Given the description of an element on the screen output the (x, y) to click on. 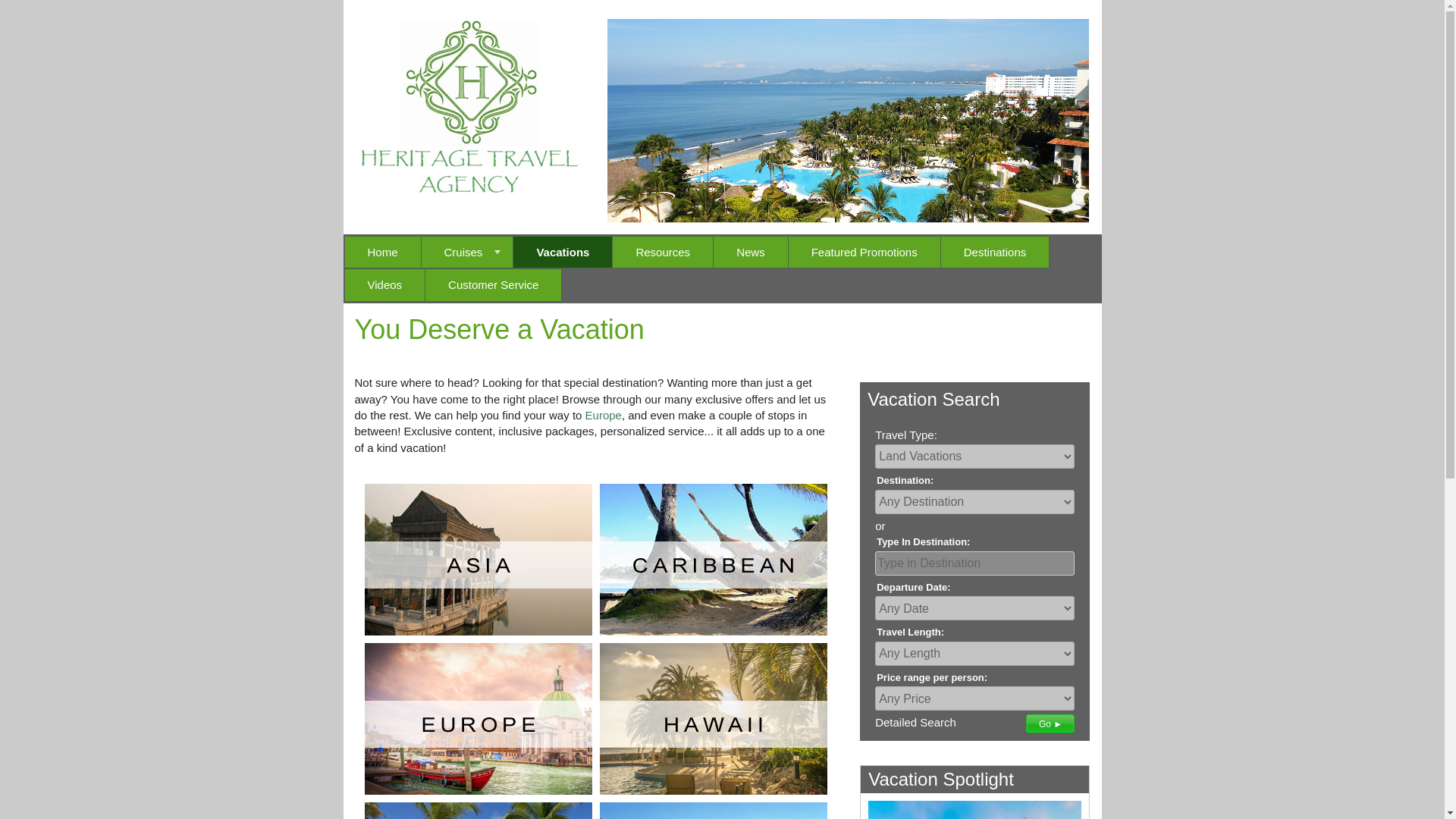
Cruises (463, 252)
Destinations (994, 252)
Customer Service (492, 285)
Home (381, 252)
Resources (662, 252)
Featured Promotions (864, 252)
Europe (603, 414)
Detailed Search (915, 721)
News (750, 252)
Videos (384, 285)
